Given the description of an element on the screen output the (x, y) to click on. 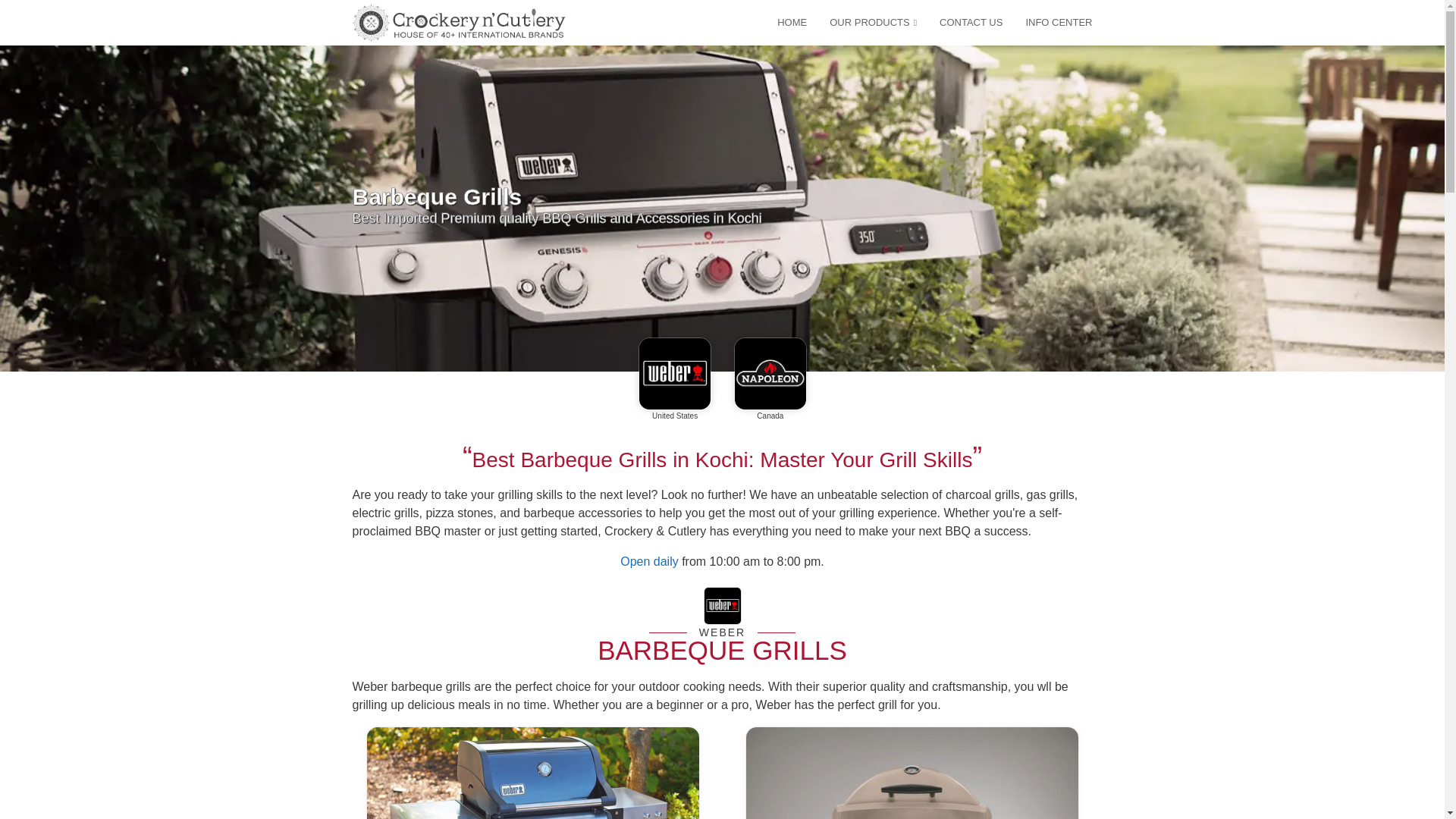
Weber Barbeque Grills in Kochi (722, 606)
Barbeque Grills near me (721, 650)
Weber in Kochi (675, 372)
Napoleon in Kochi (769, 372)
CONTACT US (960, 22)
HOME (780, 22)
HOME (780, 22)
OUR PRODUCTS (861, 22)
crockey shop near me (649, 561)
Weber Barbeque Grills in Kochi (723, 632)
